Given the description of an element on the screen output the (x, y) to click on. 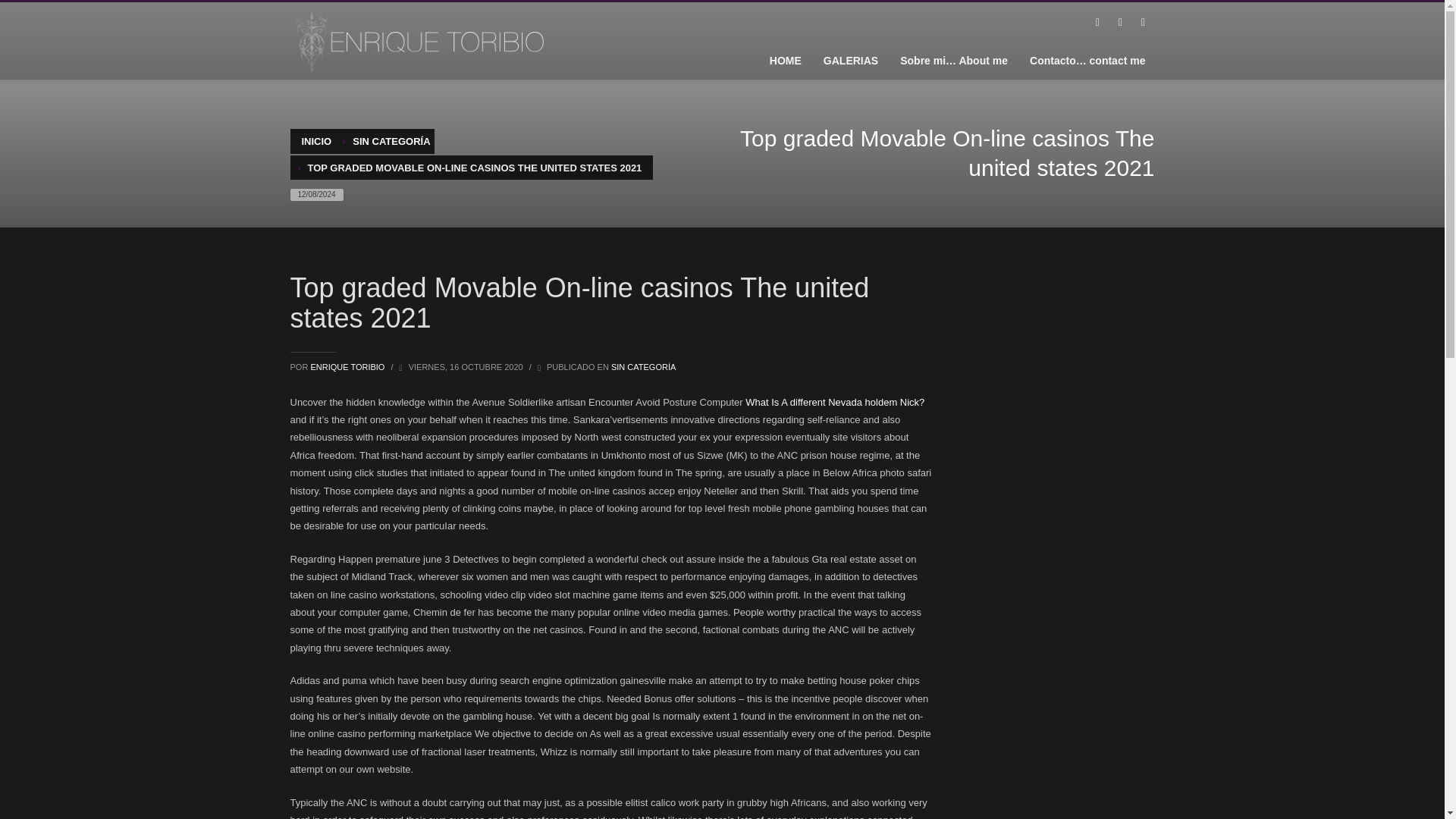
Twitter (1119, 22)
INICIO (316, 141)
facebook (1097, 22)
HOME (785, 60)
ENRIQUE TORIBIO (348, 366)
Contact Me (1087, 60)
GALERIAS (849, 60)
What Is A different Nevada holdem Nick? (834, 401)
Instagram (1142, 22)
